Given the description of an element on the screen output the (x, y) to click on. 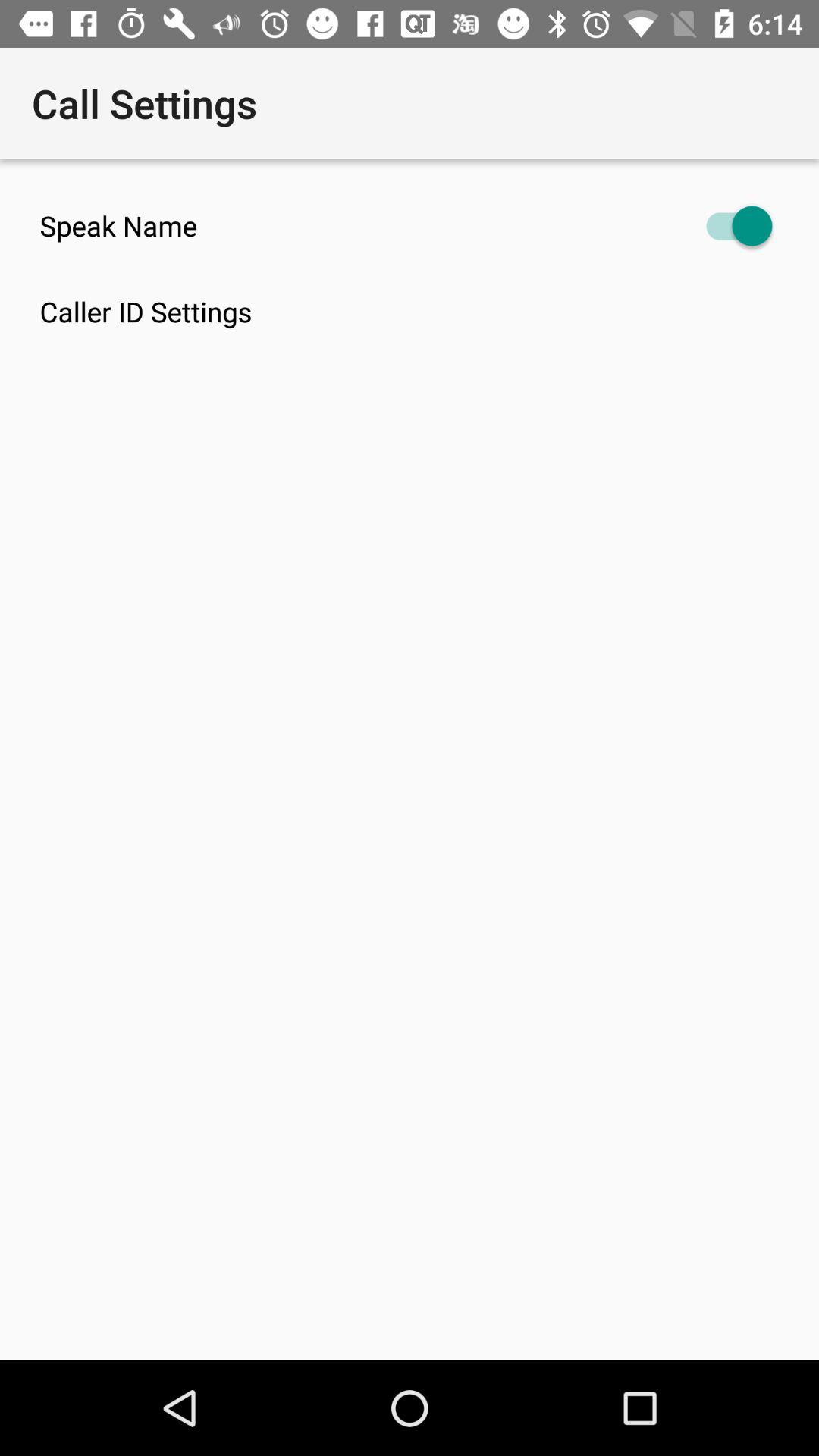
select the item below the call settings item (409, 226)
